Given the description of an element on the screen output the (x, y) to click on. 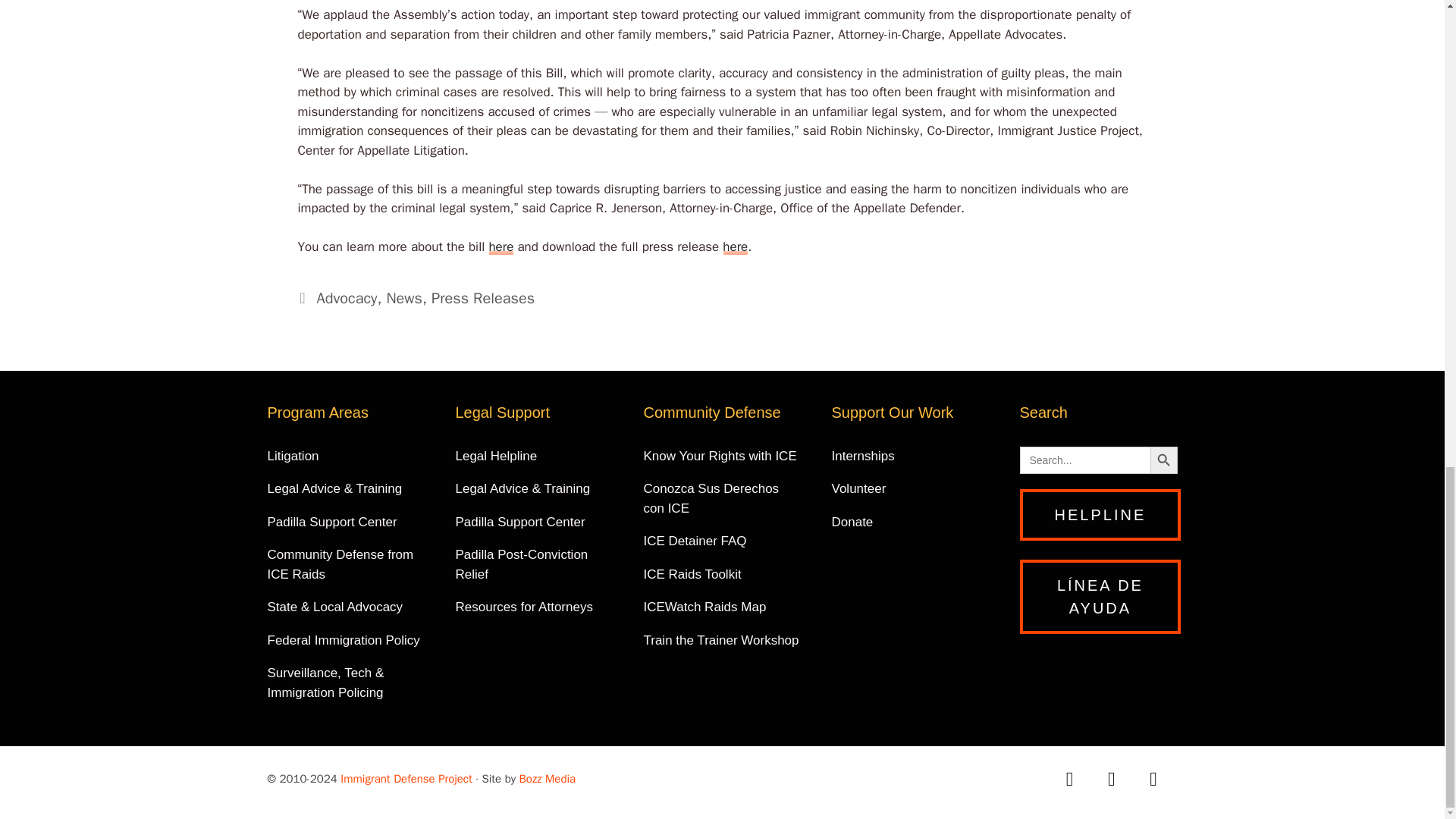
Twitter (1111, 778)
Facebook (1069, 778)
Scroll back to top (1406, 444)
Instagram (1152, 778)
